Given the description of an element on the screen output the (x, y) to click on. 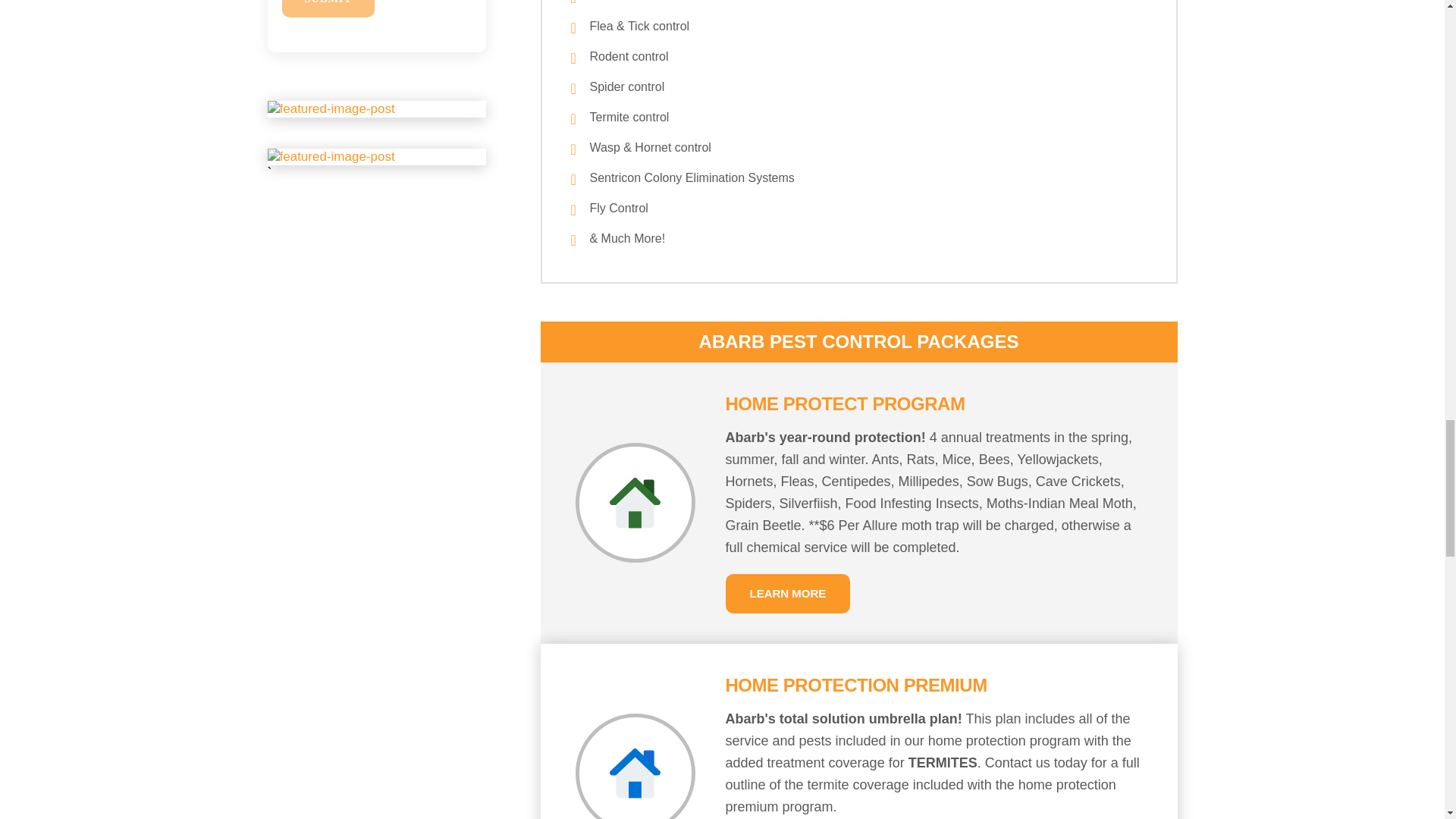
Submit (328, 8)
